Given the description of an element on the screen output the (x, y) to click on. 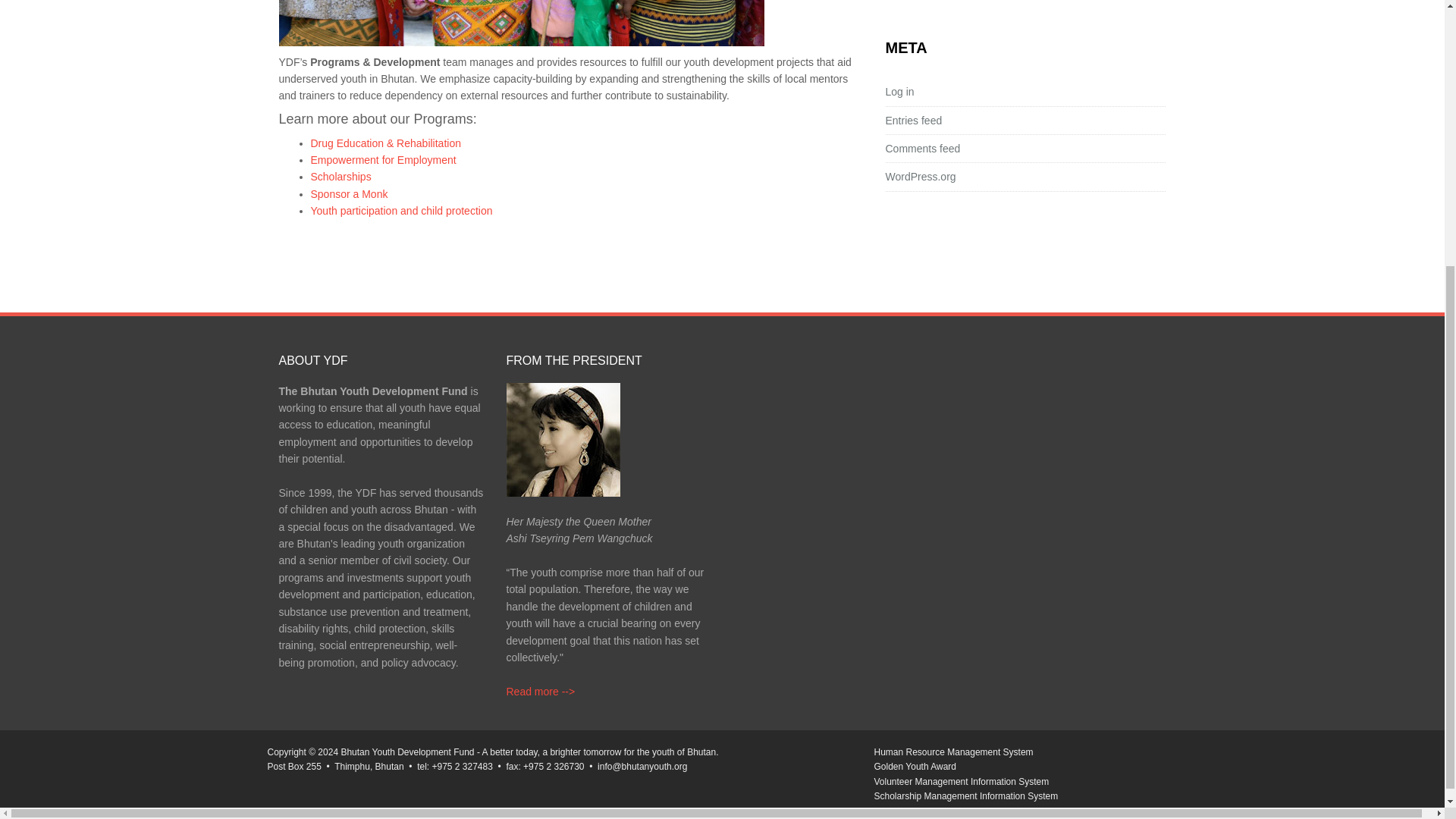
Empowerment for Employment (384, 159)
Youth participation and child protection (402, 210)
Bhutan Youth Development Fund (407, 751)
Sponsor a Monk (349, 193)
Scholarships (341, 176)
Scholarships (341, 176)
Sponsor a Monk (349, 193)
Empowerment for Employment (384, 159)
